Given the description of an element on the screen output the (x, y) to click on. 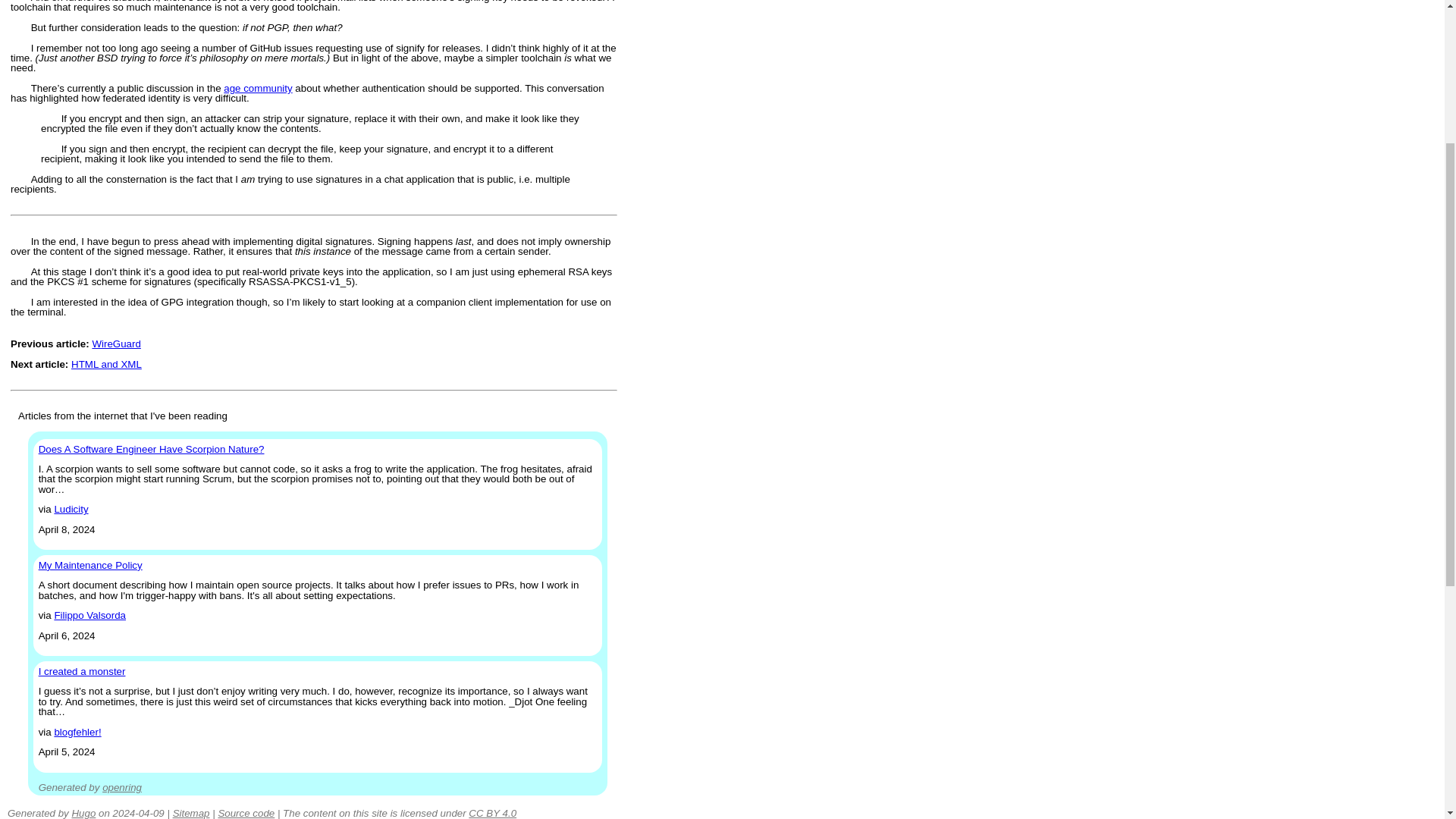
HTML and XML (106, 364)
openring (121, 787)
Filippo Valsorda (89, 614)
blogfehler! (76, 731)
age community (258, 88)
Does A Software Engineer Have Scorpion Nature? (151, 449)
WireGuard (115, 343)
Ludicity (70, 509)
My Maintenance Policy (90, 564)
I created a monster (82, 671)
